Given the description of an element on the screen output the (x, y) to click on. 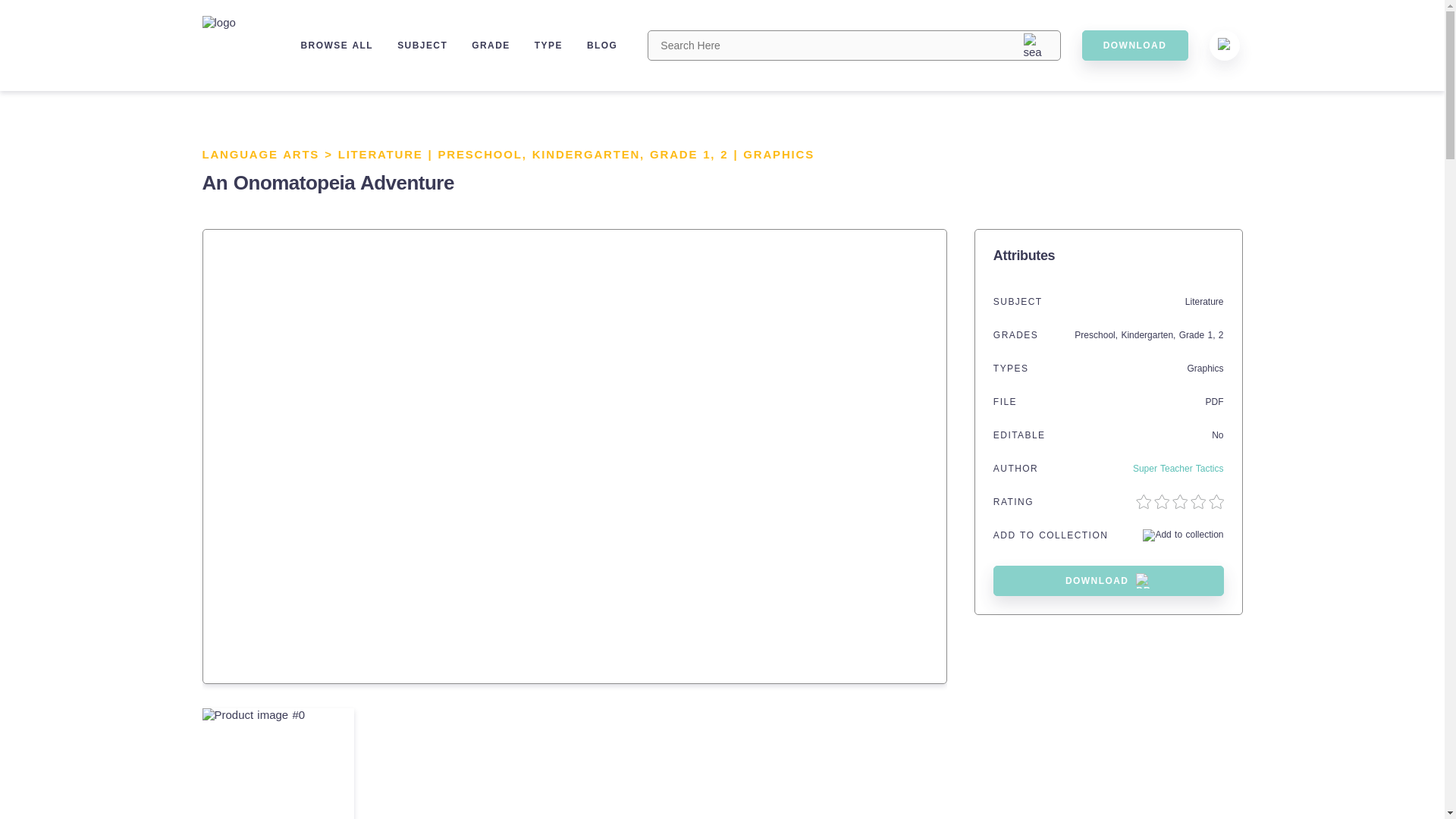
Super Teacher Tactics (1178, 468)
Graphics (1204, 368)
BLOG (601, 45)
1, (711, 154)
LANGUAGE ARTS (260, 154)
1, (1212, 335)
Kindergarten (1147, 335)
LITERATURE (380, 154)
KINDERGARTEN (586, 154)
PDF (1214, 401)
